Given the description of an element on the screen output the (x, y) to click on. 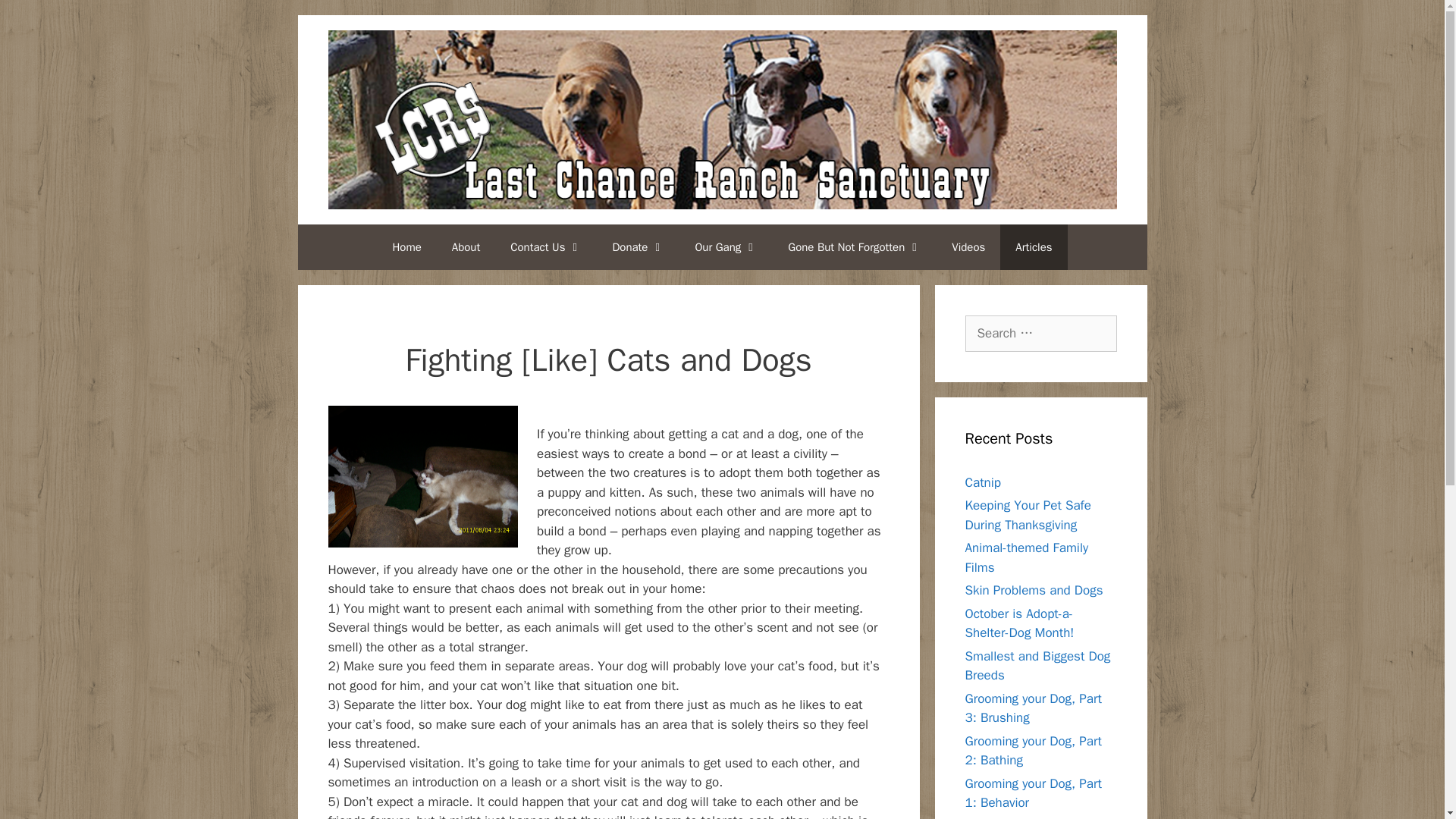
Our Gang (726, 247)
Gone But Not Forgotten (854, 247)
Search for: (1039, 333)
About (465, 247)
Contact Us (545, 247)
Home (406, 247)
Donate (637, 247)
